Given the description of an element on the screen output the (x, y) to click on. 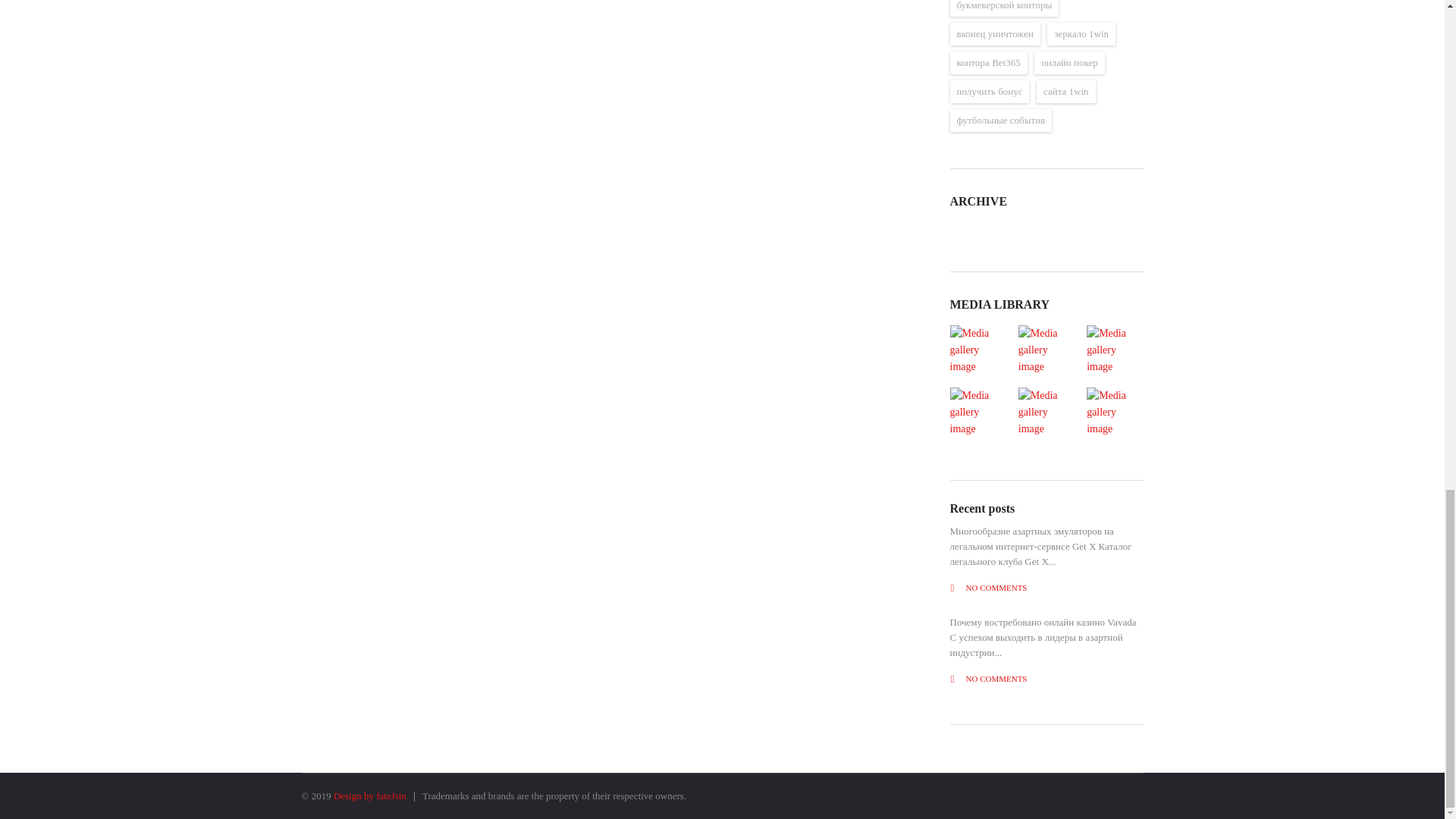
Watch in popup (977, 350)
Watch in popup (1114, 412)
Watch in popup (977, 412)
Watch in popup (1045, 350)
Watch in popup (1114, 350)
Watch in popup (1045, 412)
